Given the description of an element on the screen output the (x, y) to click on. 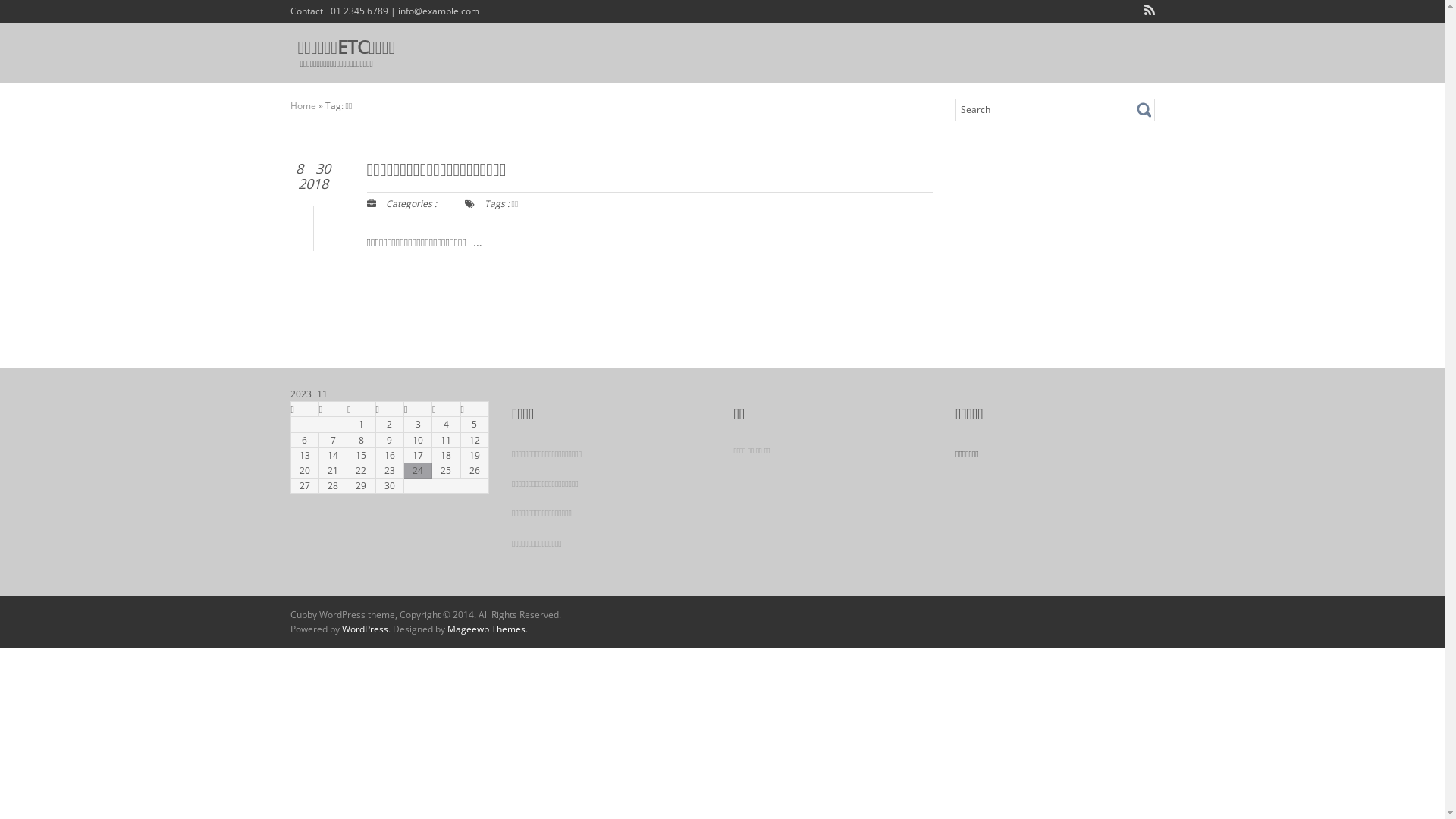
Rss Element type: hover (1145, 11)
WordPress Element type: text (364, 628)
Home Element type: text (302, 105)
Mageewp Themes Element type: text (486, 628)
